Given the description of an element on the screen output the (x, y) to click on. 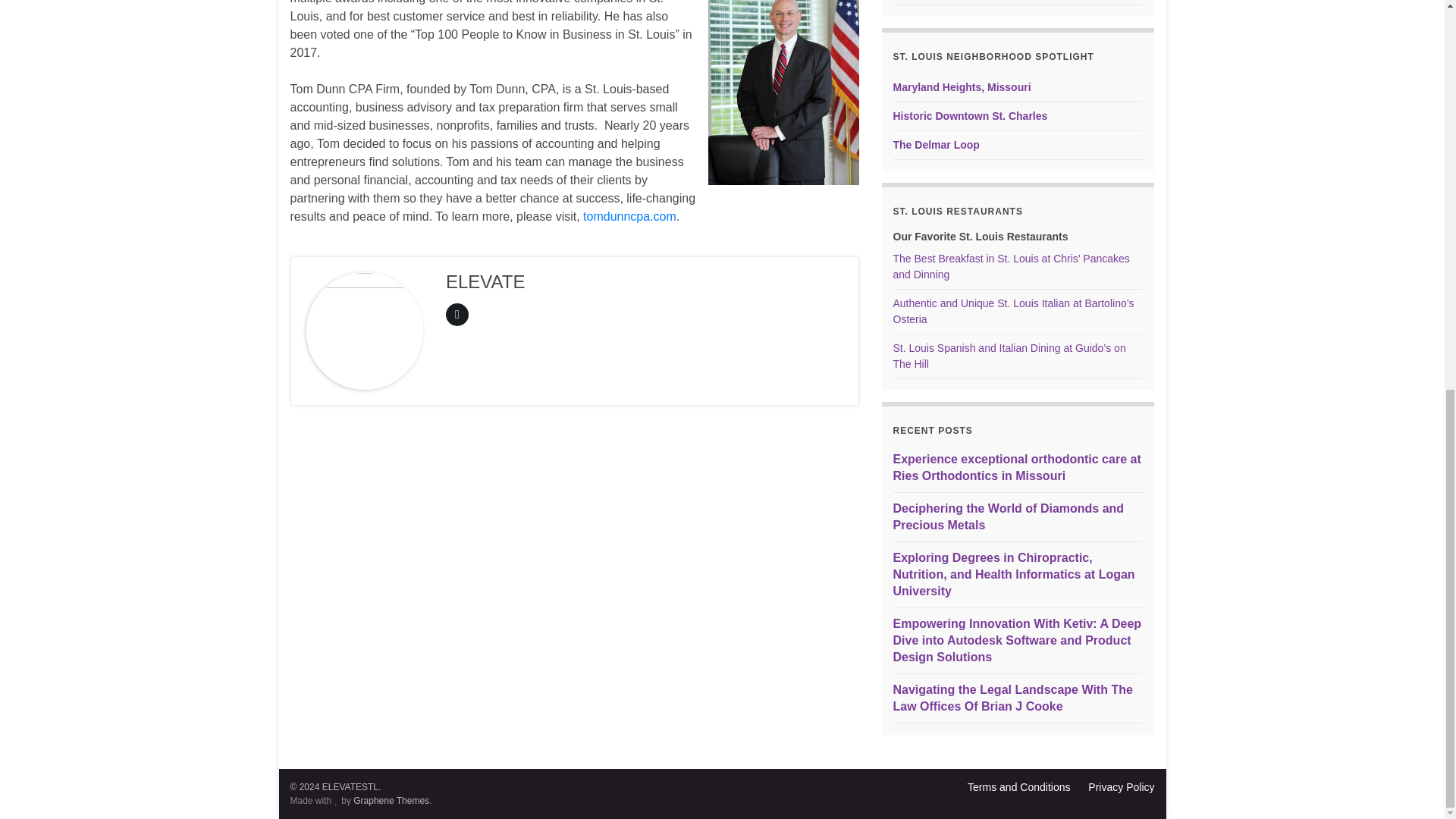
Maryland Heights, Missouri (961, 87)
The Delmar Loop (936, 144)
tomdunncpa.com (630, 215)
Historic Downtown St. Charles (970, 115)
